Given the description of an element on the screen output the (x, y) to click on. 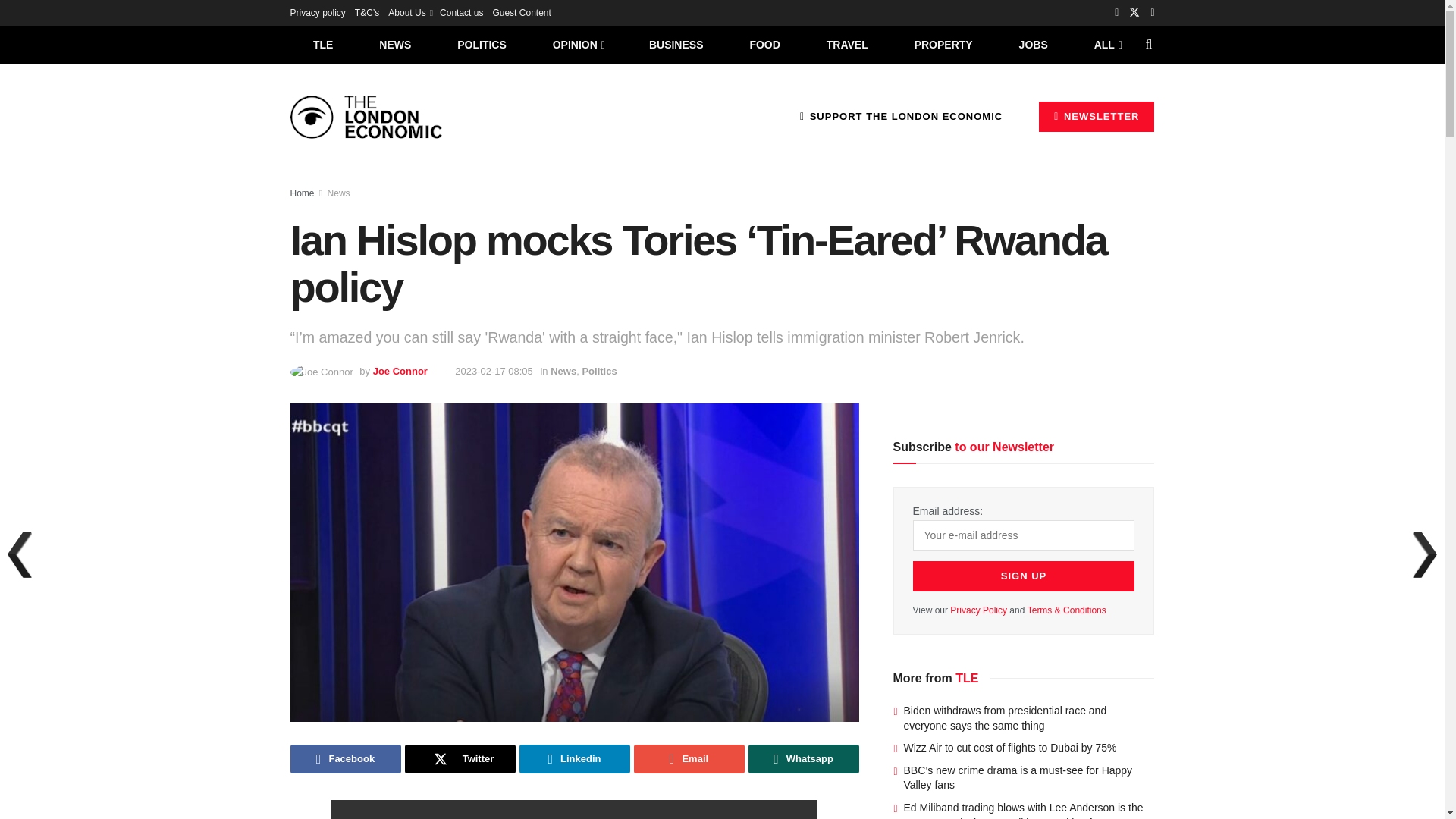
JOBS (1032, 44)
NEWSLETTER (1096, 116)
BUSINESS (676, 44)
Home (301, 193)
TRAVEL (847, 44)
Guest Content (521, 12)
About Us (409, 12)
ALL (1106, 44)
Privacy policy (317, 12)
PROPERTY (943, 44)
SUPPORT THE LONDON ECONOMIC (900, 116)
Contact us (461, 12)
TLE (322, 44)
POLITICS (481, 44)
FOOD (764, 44)
